Given the description of an element on the screen output the (x, y) to click on. 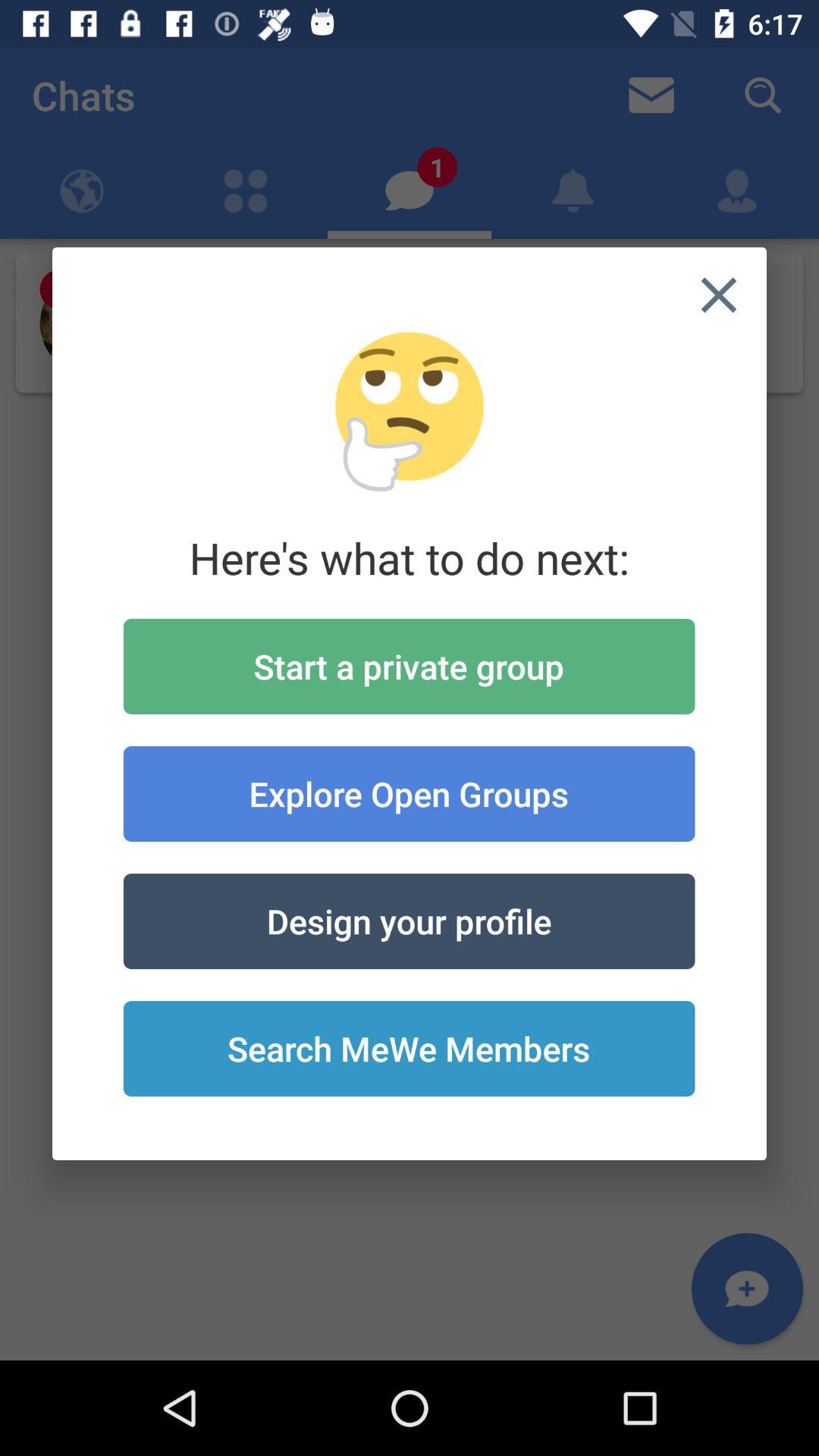
launch the item below explore open groups icon (409, 921)
